Given the description of an element on the screen output the (x, y) to click on. 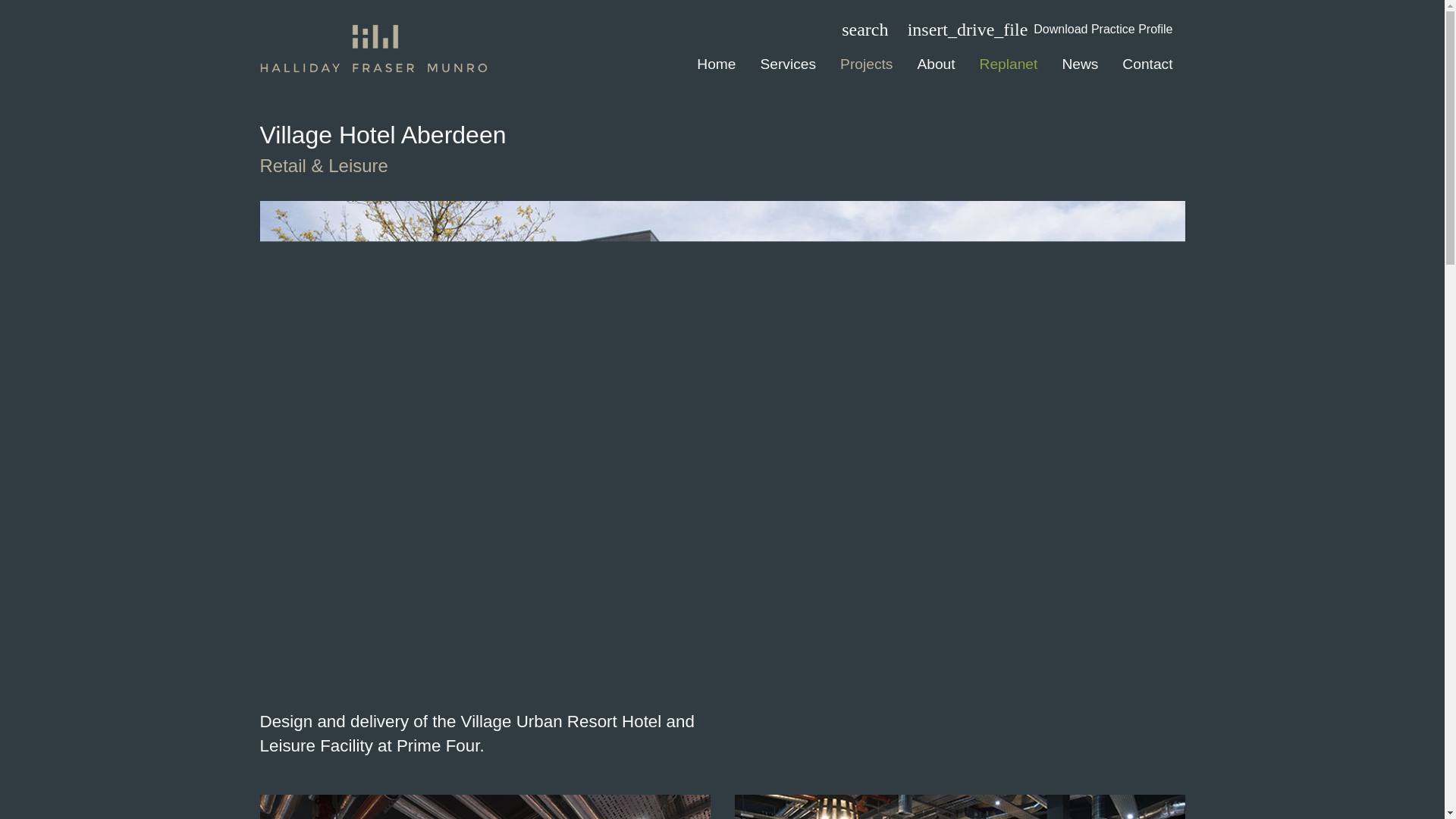
About (935, 64)
Services (788, 64)
Projects (866, 64)
Replanet (1008, 64)
search (864, 29)
Contact (1147, 64)
News (1079, 64)
Home (716, 64)
Go (804, 29)
